Given the description of an element on the screen output the (x, y) to click on. 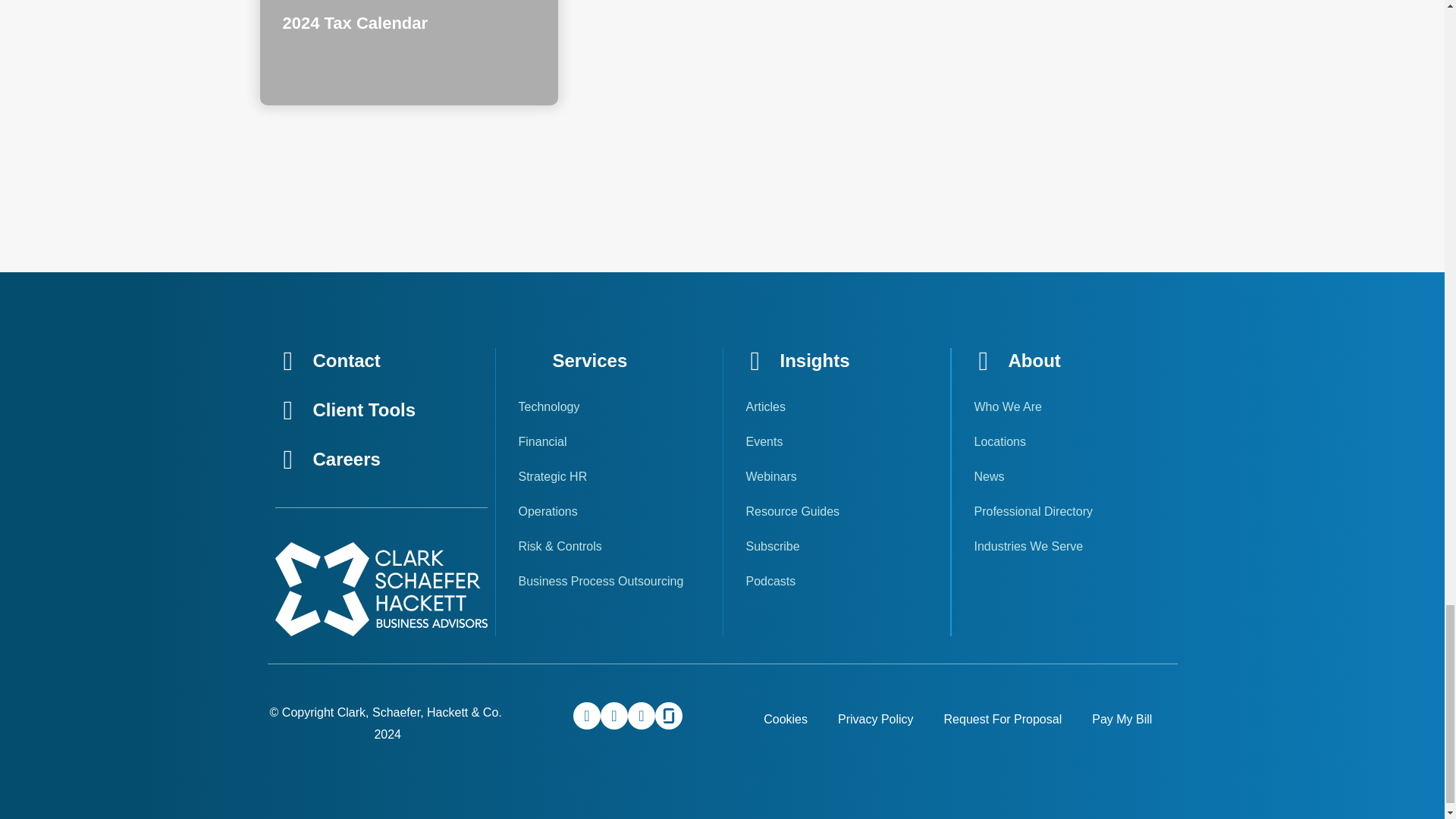
Strategic HR (608, 476)
Client Tools (363, 409)
Operations (608, 511)
Financial (608, 442)
Business Process Outsourcing (608, 581)
Technology (608, 407)
Podcasts (836, 581)
Subscribe (836, 546)
Resource Guides (836, 511)
Contact (346, 360)
Events (836, 442)
Careers (346, 458)
Articles (836, 407)
Webinars (836, 476)
